Given the description of an element on the screen output the (x, y) to click on. 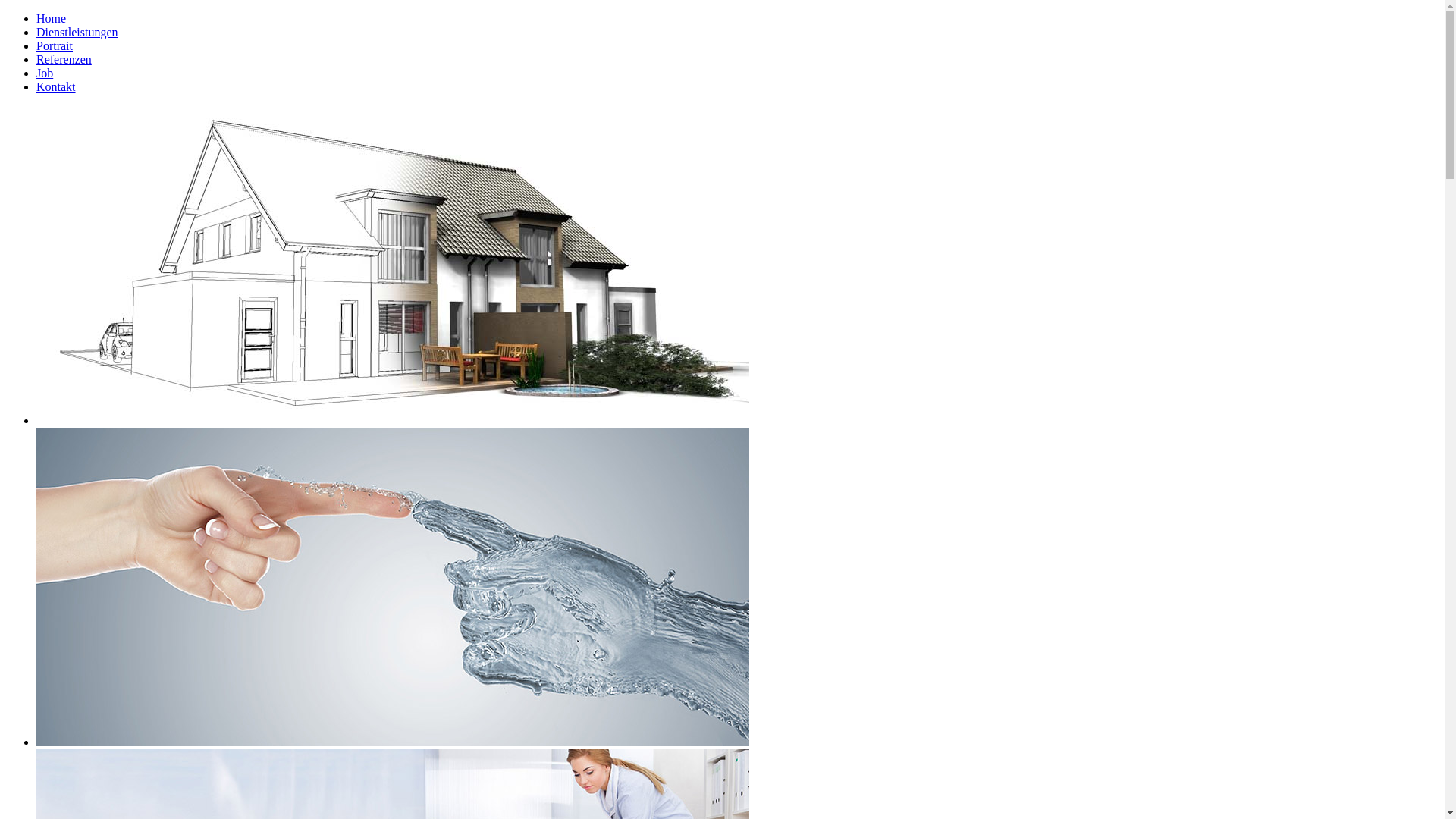
#htmlcaption Element type: hover (392, 265)
Portrait Element type: text (54, 45)
Dienstleistungen Element type: text (77, 31)
Referenzen Element type: text (63, 59)
Home Element type: text (50, 18)
#htmlcaption1 Element type: hover (392, 586)
Job Element type: text (44, 72)
Kontakt Element type: text (55, 86)
